Given the description of an element on the screen output the (x, y) to click on. 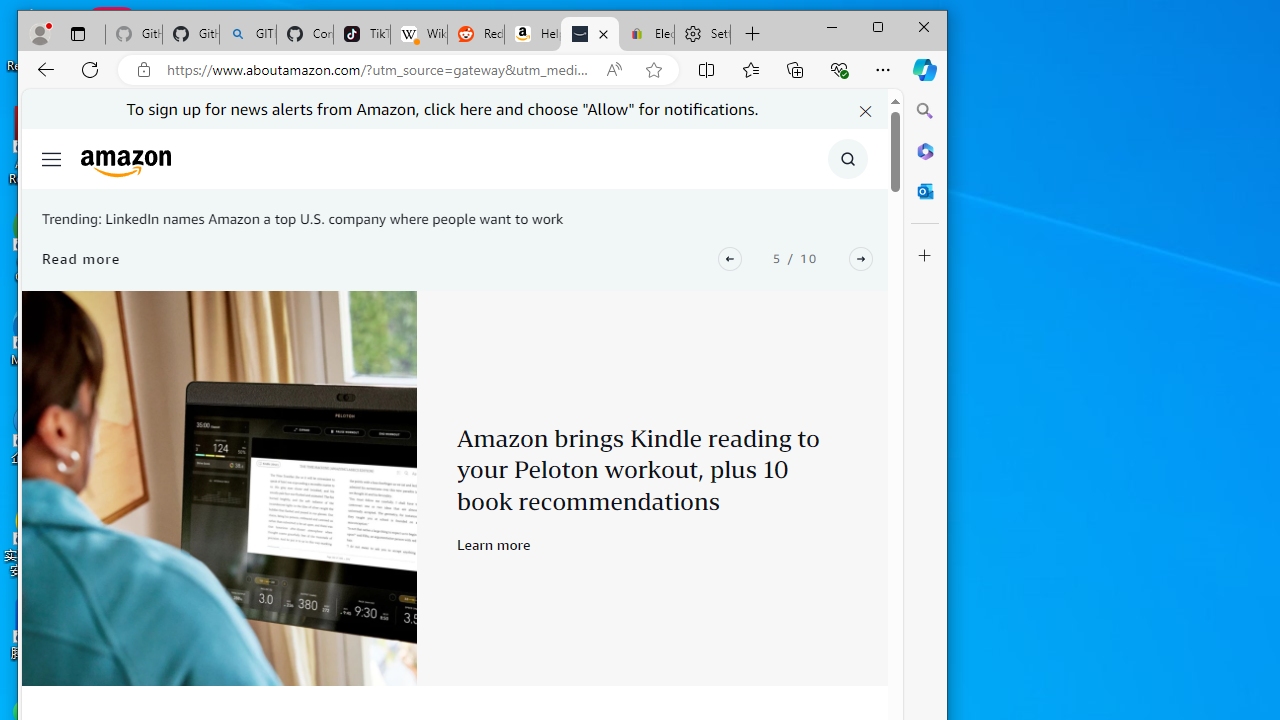
About Amazon (589, 34)
Next (860, 258)
Previous (730, 258)
Class: icon-search (847, 159)
